Given the description of an element on the screen output the (x, y) to click on. 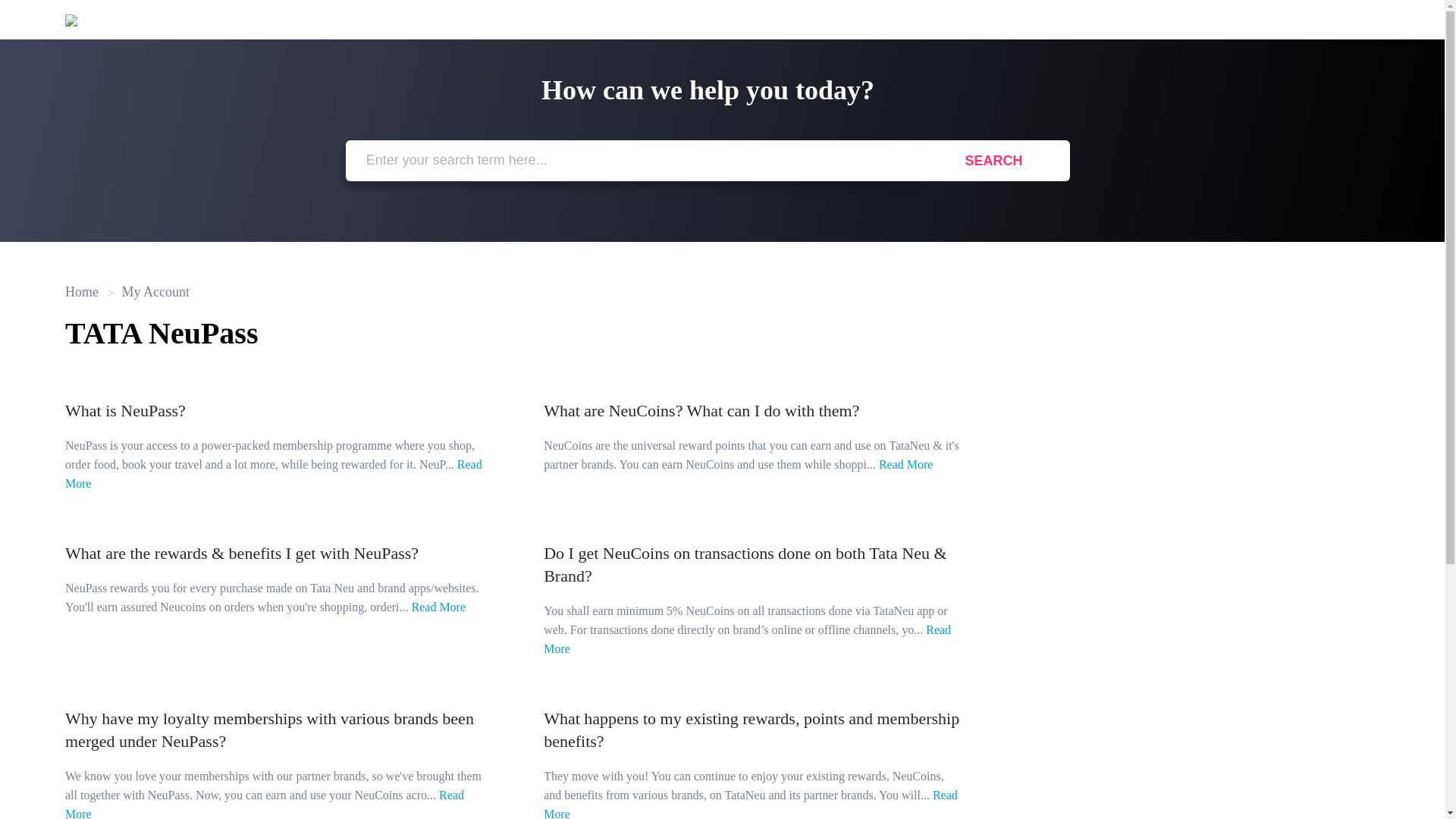
What is NeuPass? (125, 410)
Read More (273, 473)
Read More (750, 803)
Read More (437, 606)
Read More (746, 639)
What are NeuCoins? What can I do with them? (701, 410)
My Account (148, 291)
Home (82, 291)
SEARCH (993, 160)
Read More (264, 803)
Read More (906, 463)
